Given the description of an element on the screen output the (x, y) to click on. 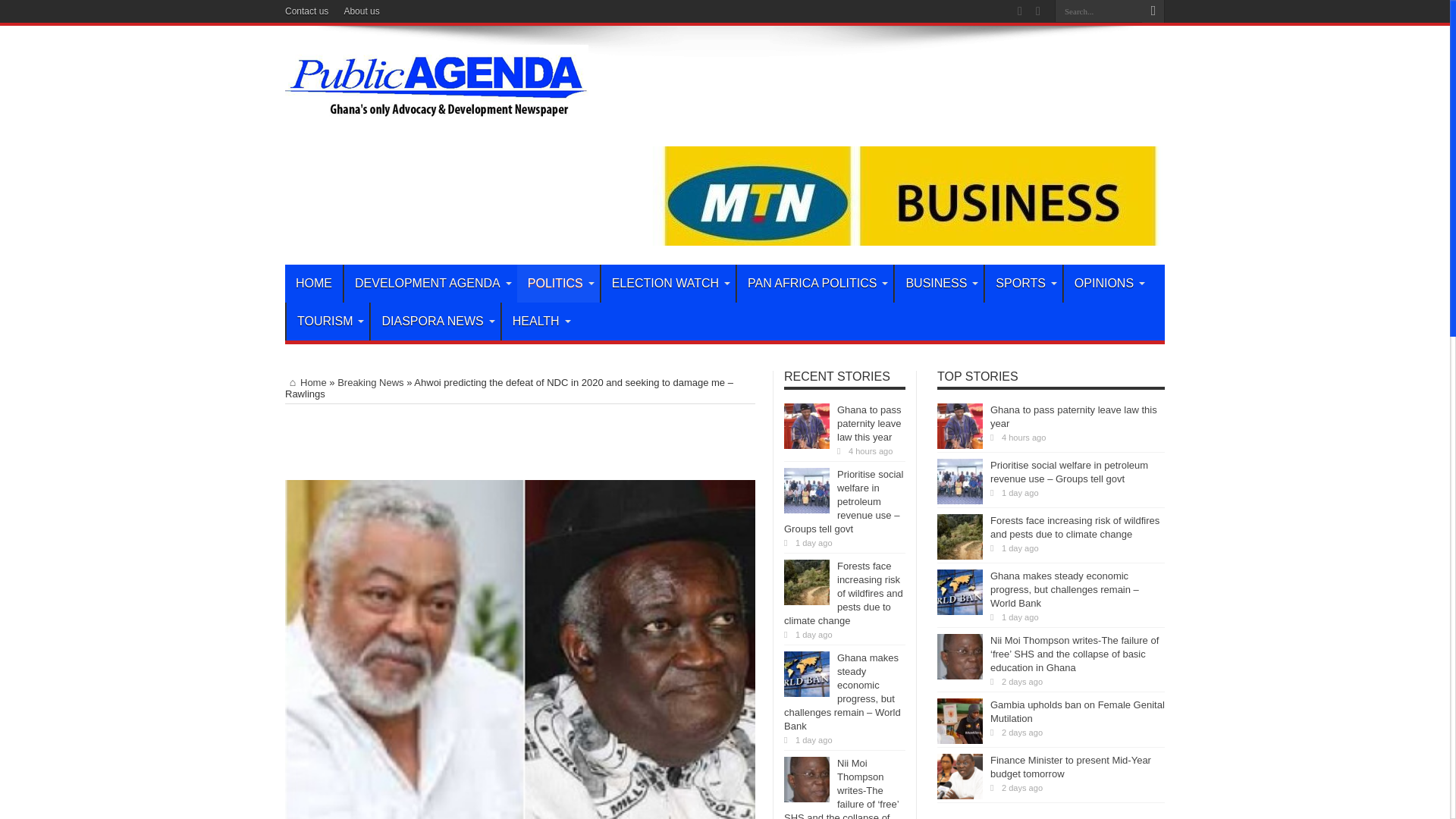
Public Agenda NewsPaper (436, 121)
HOME (313, 283)
About us (360, 11)
Search (1152, 11)
PAN AFRICA POLITICS (814, 283)
Search... (1097, 11)
ELECTION WATCH (667, 283)
Contact us (307, 11)
POLITICS (557, 283)
DEVELOPMENT AGENDA (429, 283)
BUSINESS (938, 283)
